Given the description of an element on the screen output the (x, y) to click on. 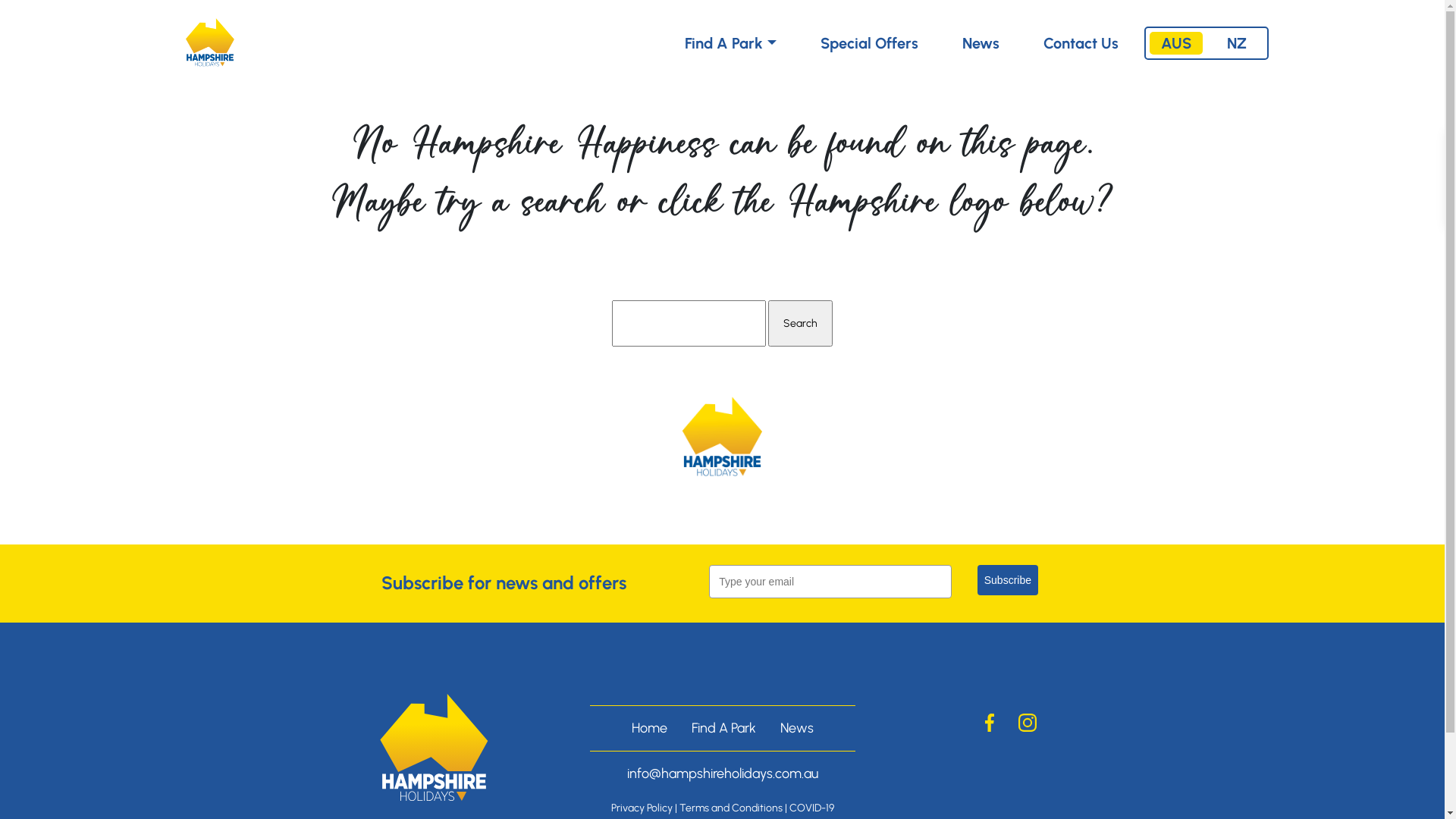
Terms and Conditions Element type: text (730, 807)
Subscribe Element type: text (1007, 579)
Privacy Policy Element type: text (641, 807)
Special Offers Element type: text (869, 42)
Find A Park Element type: text (729, 42)
| COVID-19 Element type: text (808, 807)
News Element type: text (795, 727)
AUS
NZ Element type: text (1206, 42)
News Element type: text (979, 42)
Find A Park Element type: text (723, 727)
info@hampshireholidays.com.au Element type: text (721, 773)
Contact Us Element type: text (1080, 42)
Home Element type: text (648, 727)
Search Element type: text (800, 323)
